Given the description of an element on the screen output the (x, y) to click on. 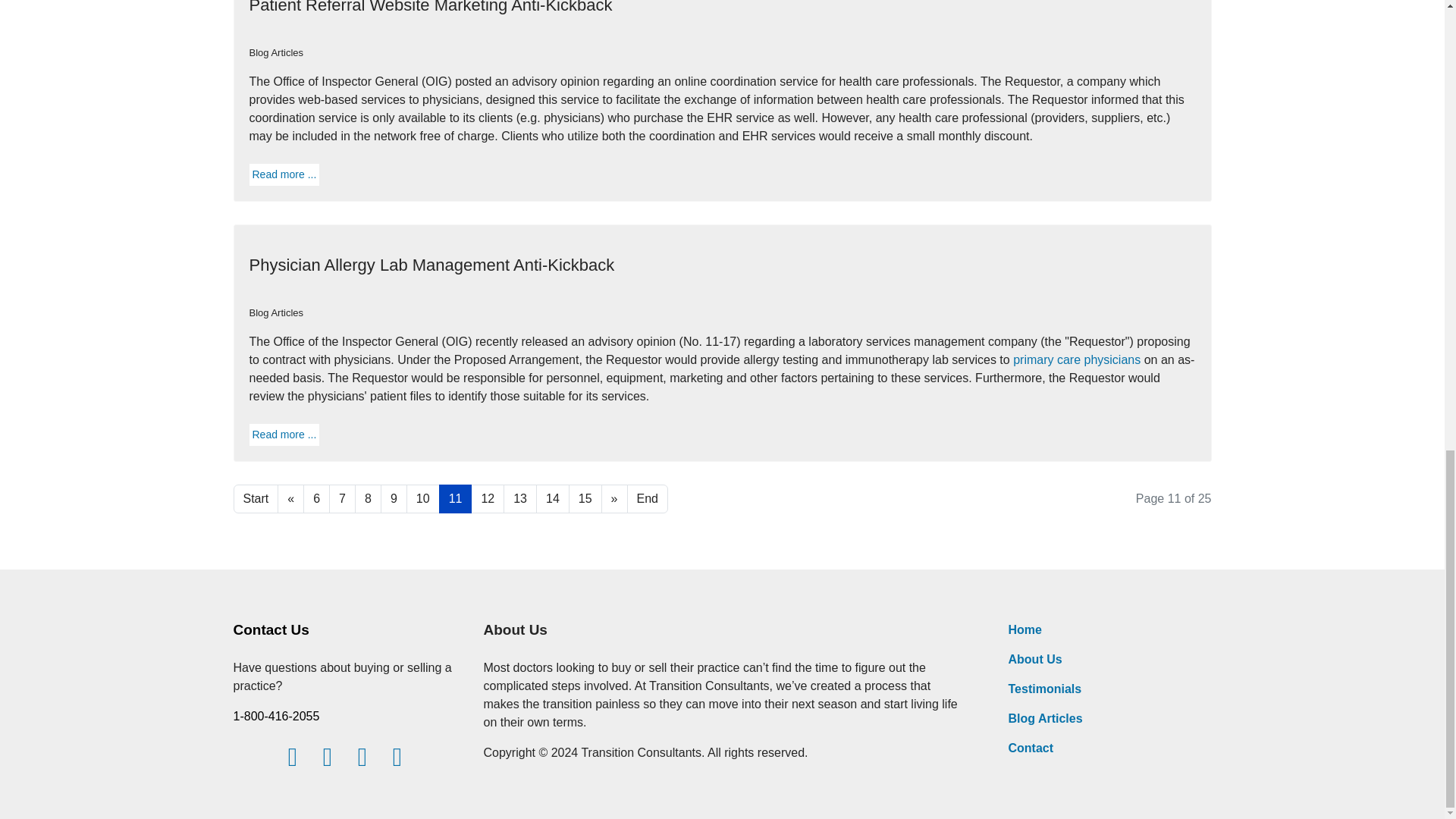
primary care physicians (1076, 359)
Blog Articles (275, 312)
Start (255, 498)
13 (520, 498)
11 (455, 498)
6 (316, 498)
6 (316, 498)
End (647, 498)
14 (552, 498)
8 (368, 498)
Read more ... (283, 434)
12 (486, 498)
Start (255, 498)
9 (393, 498)
9 (393, 498)
